Given the description of an element on the screen output the (x, y) to click on. 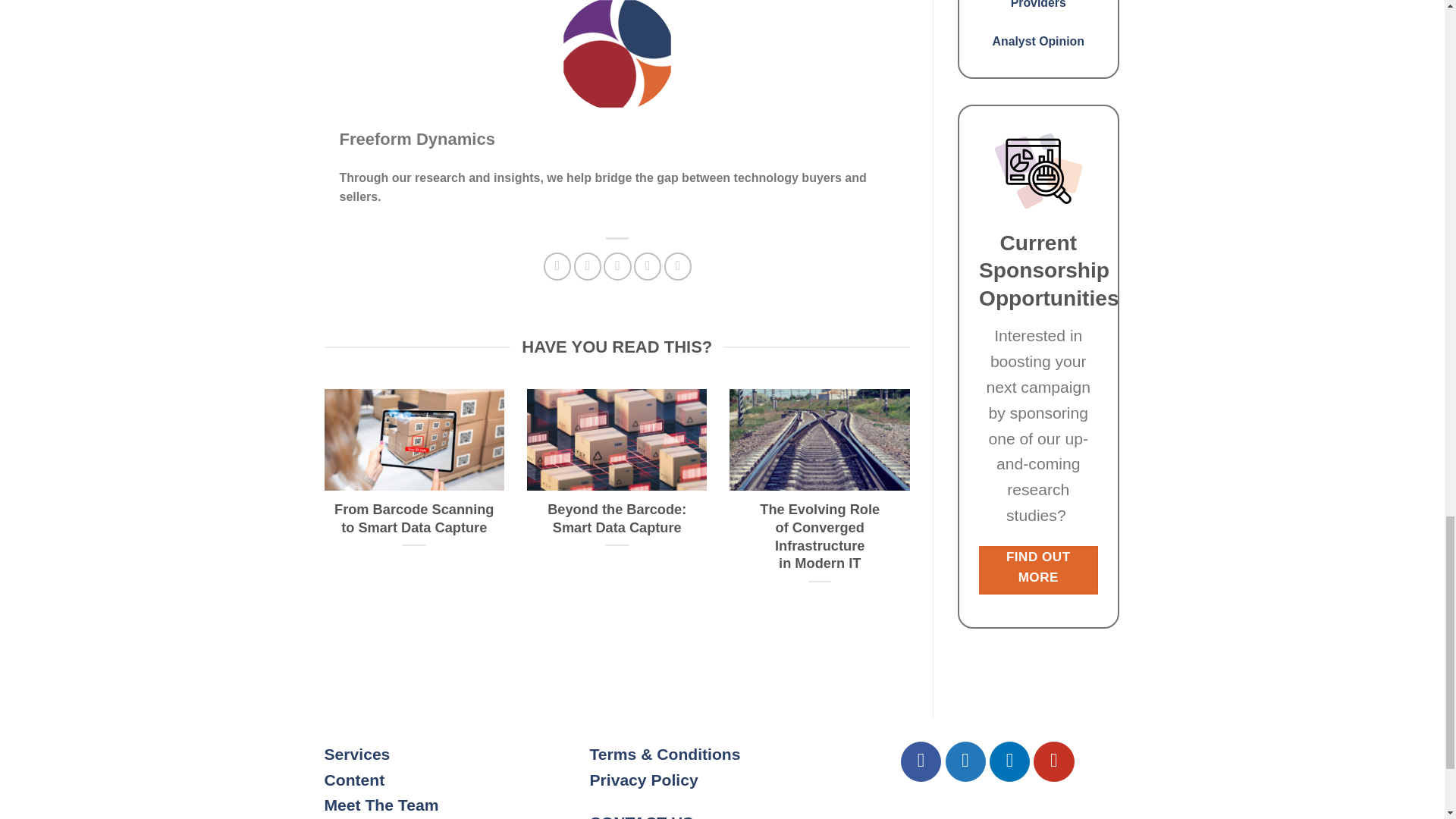
Share on LinkedIn (677, 266)
Share on Facebook (556, 266)
Share on Twitter (587, 266)
Pin on Pinterest (647, 266)
Follow on Facebook (920, 762)
Freeform Dynamics (417, 138)
Email to a Friend (617, 266)
